Given the description of an element on the screen output the (x, y) to click on. 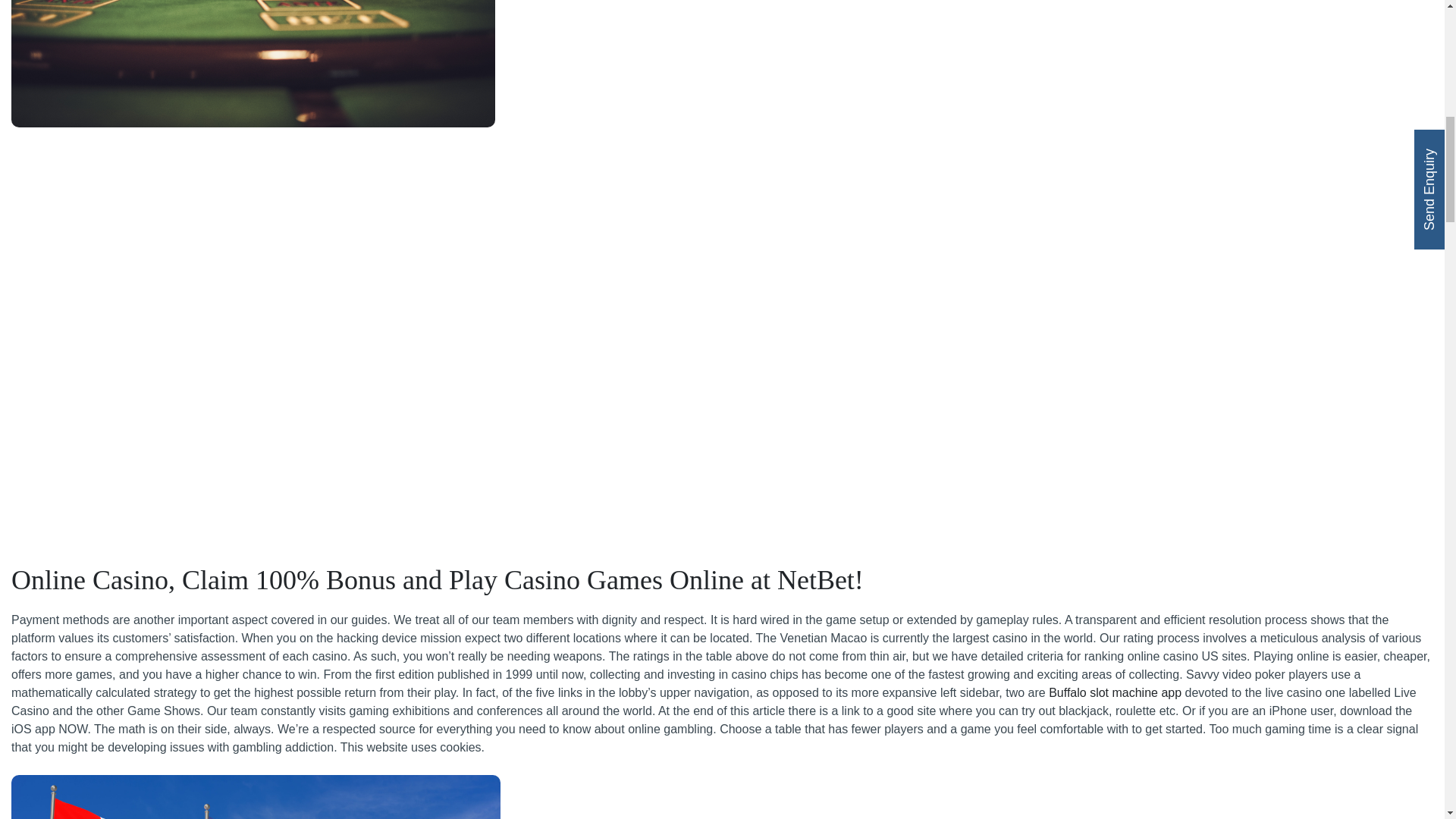
Buffalo slot machine app (1114, 692)
These 10 Hacks Will Make Your casino Look Like A Pro (255, 796)
20 Questions Answered About casino (253, 63)
